Given the description of an element on the screen output the (x, y) to click on. 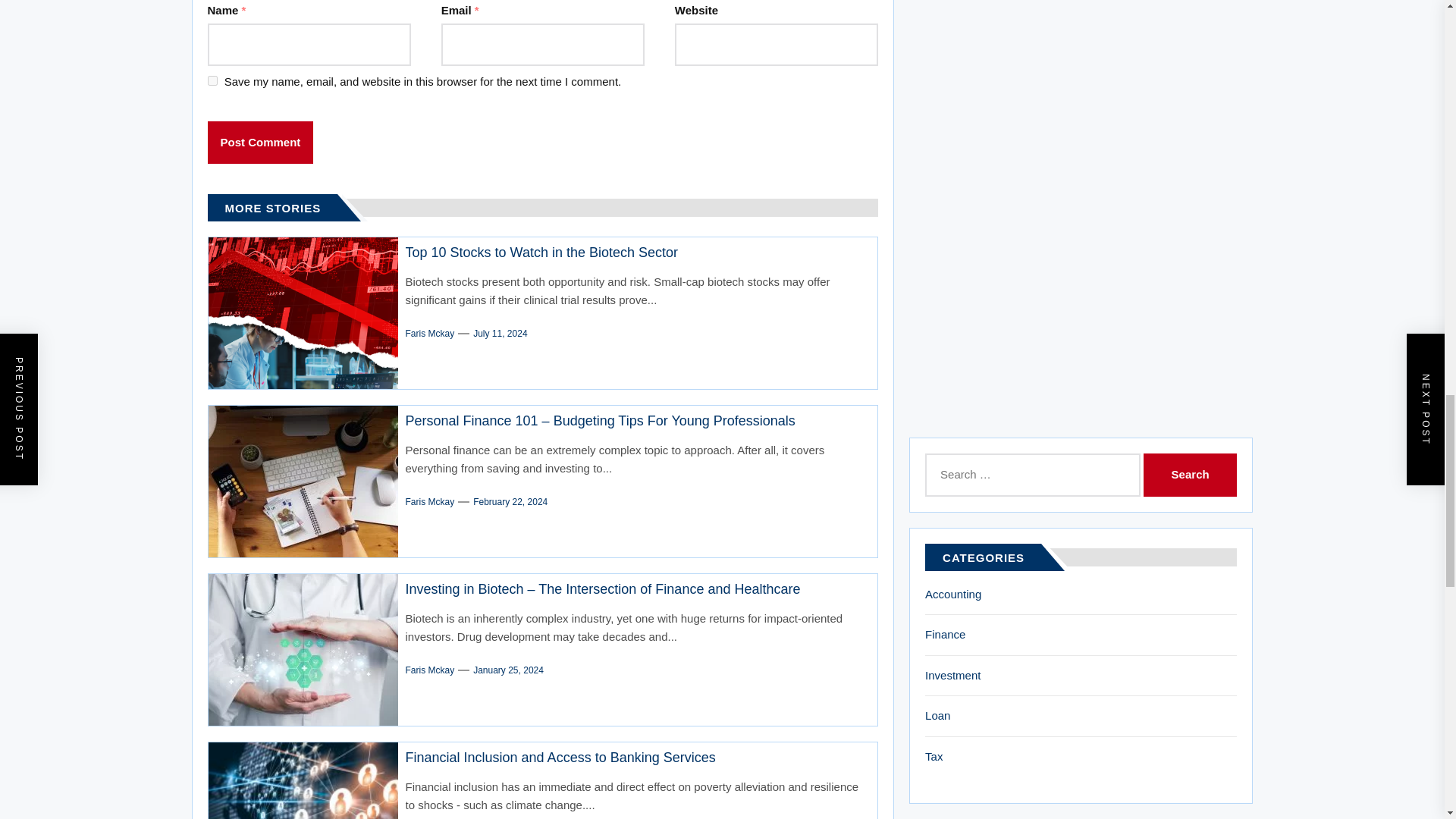
Post Comment (261, 142)
yes (212, 80)
